Given the description of an element on the screen output the (x, y) to click on. 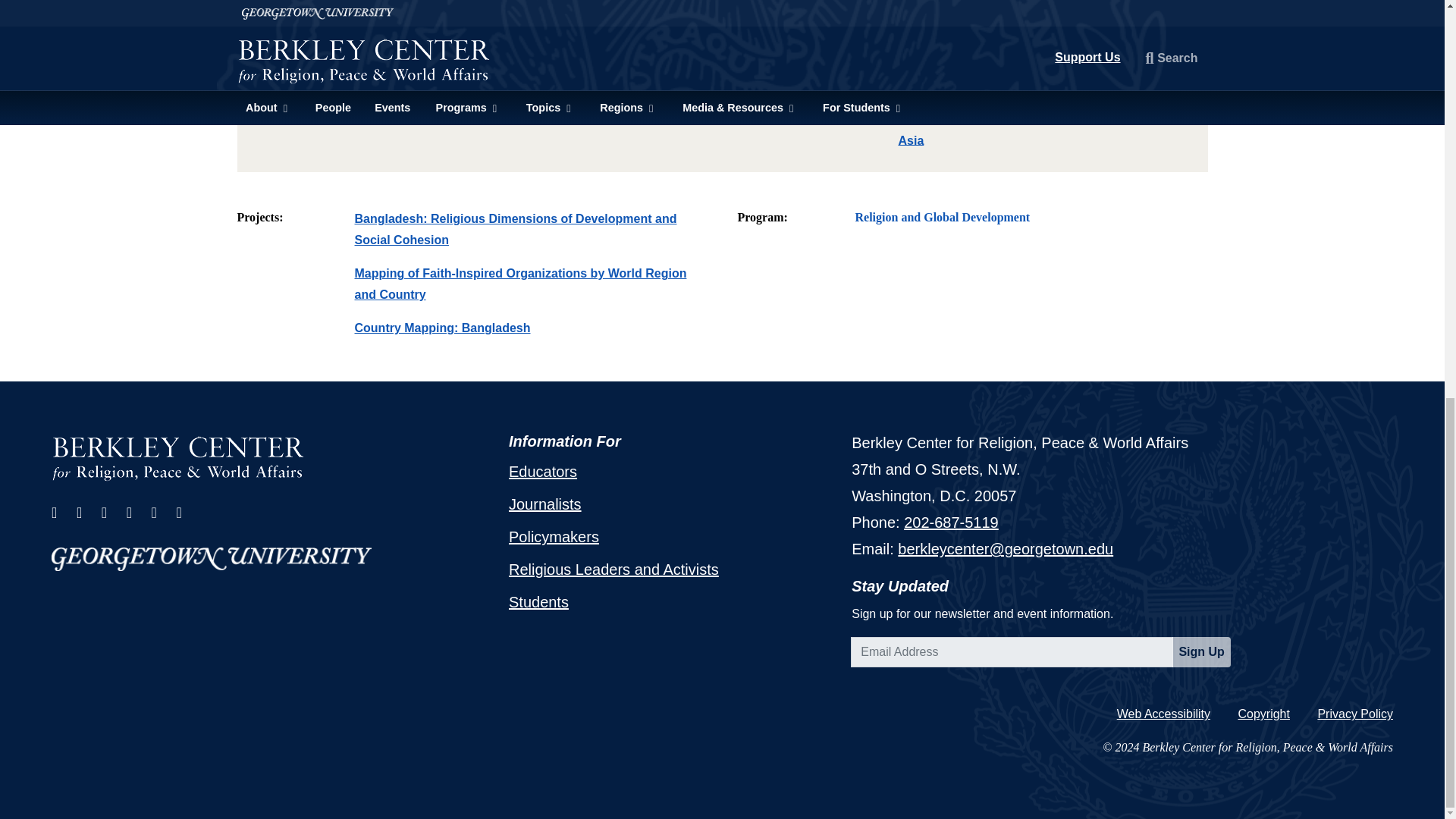
Berkley Center fo Religion, Peace and World Affairs (177, 457)
